Given the description of an element on the screen output the (x, y) to click on. 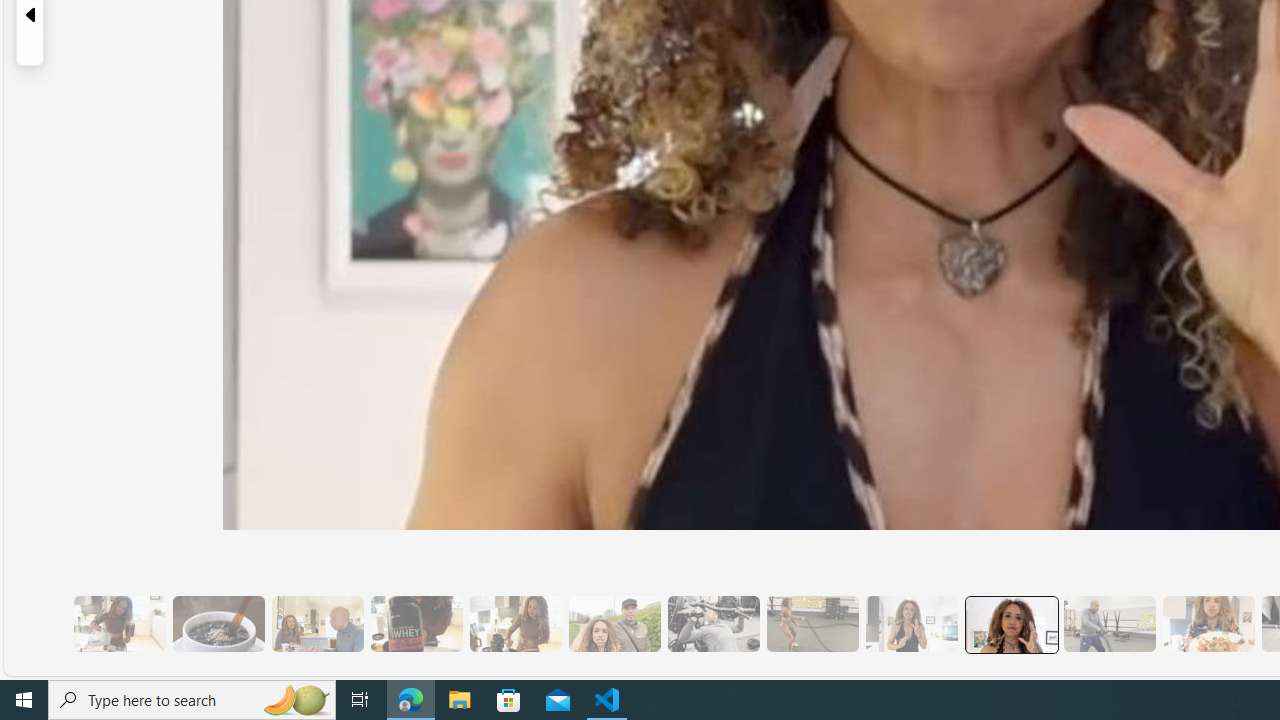
8 Be Mindful of Coffee (217, 624)
6 Since Eating More Protein Her Training Has Improved (416, 624)
3 They Drink Lemon Tea (119, 624)
14 They Have Salmon and Veggies for Dinner (1208, 624)
14 They Have Salmon and Veggies for Dinner (1208, 624)
10 Then, They Do HIIT Cardio (811, 624)
10 Then, They Do HIIT Cardio (811, 624)
11 They Eat More Protein for Breakfast (911, 624)
8 They Walk to the Gym (614, 624)
8 Be Mindful of Coffee (217, 624)
6 Since Eating More Protein Her Training Has Improved (416, 624)
7 They Don't Skip Meals (514, 624)
